Given the description of an element on the screen output the (x, y) to click on. 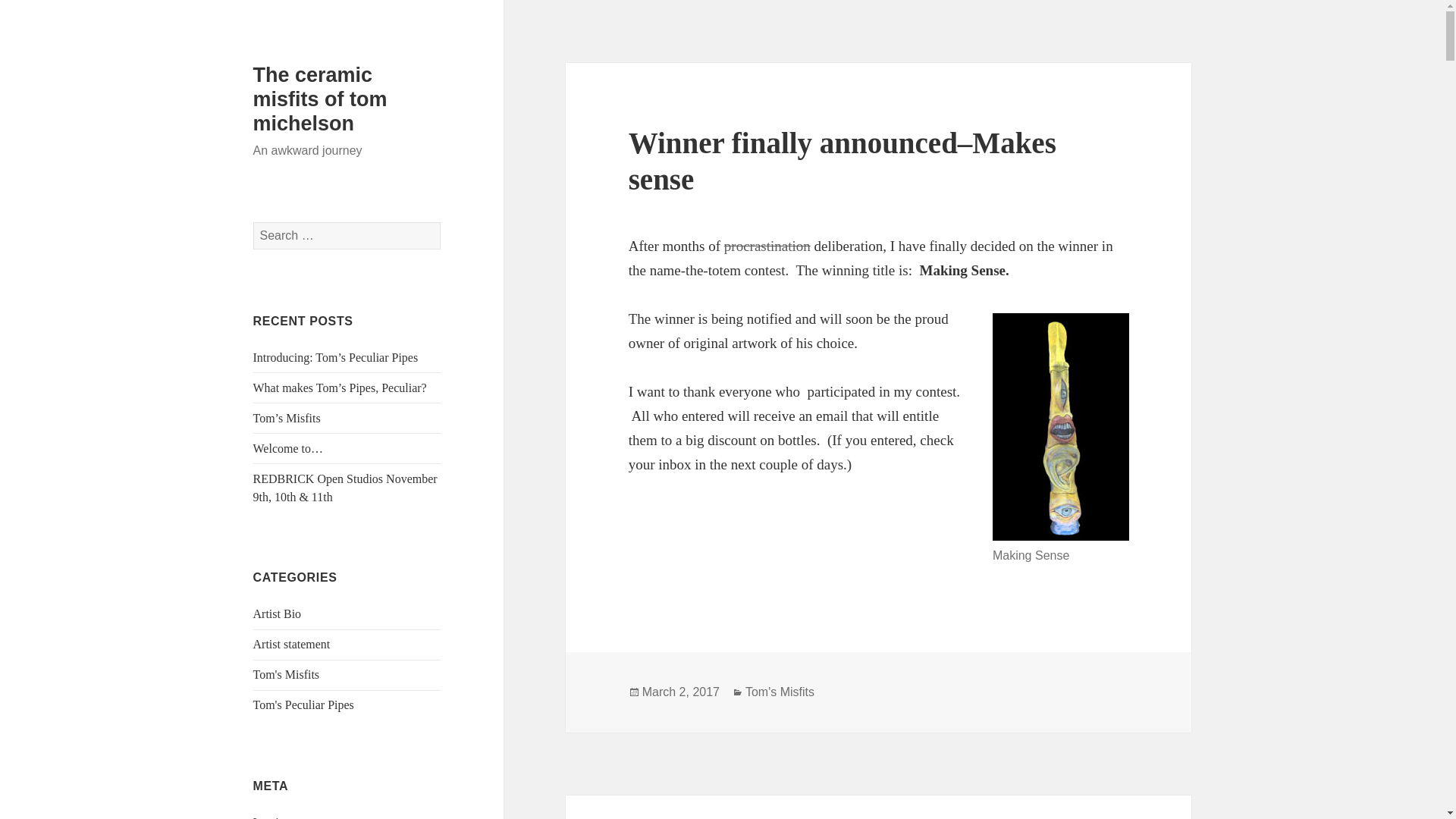
Tom's Misfits (286, 674)
Log in (269, 817)
Artist Bio (277, 613)
The ceramic misfits of tom michelson (320, 99)
March 2, 2017 (680, 692)
Tom's Misfits (779, 692)
Tom's Peculiar Pipes (303, 704)
Artist statement (291, 644)
